Given the description of an element on the screen output the (x, y) to click on. 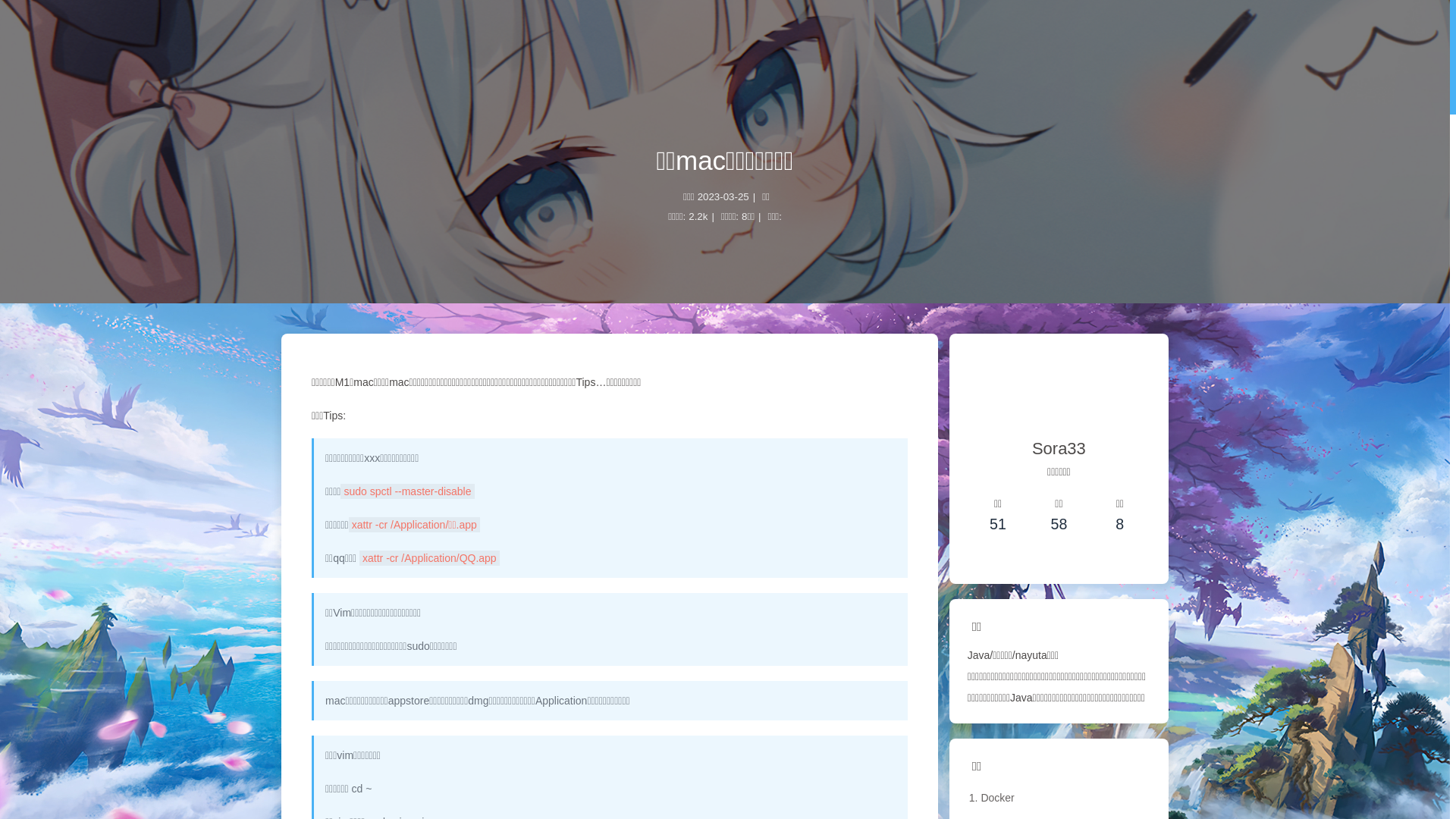
1. Docker Element type: text (1058, 797)
